Given the description of an element on the screen output the (x, y) to click on. 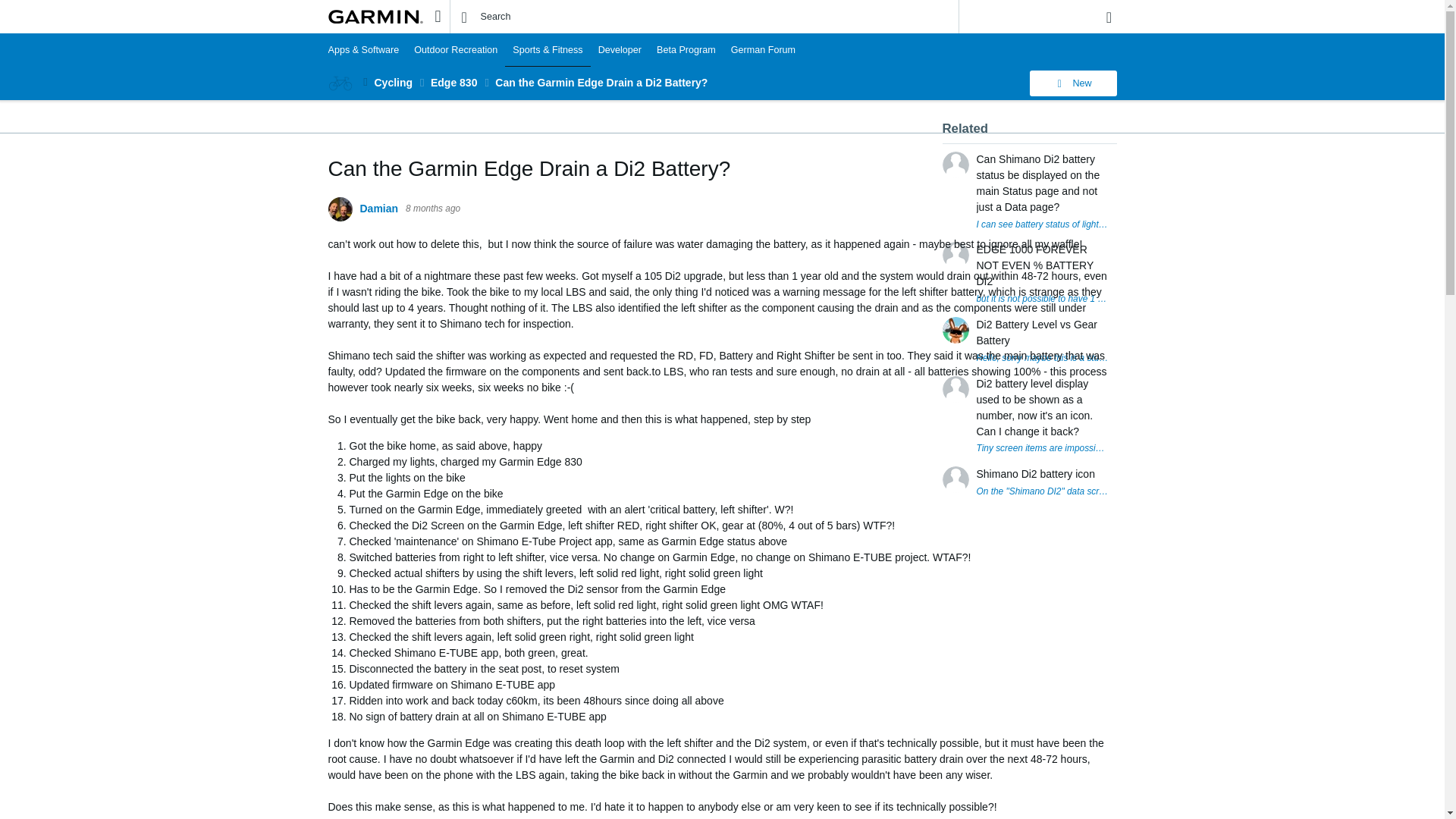
Damian (378, 208)
Edge 830 (453, 82)
Can the Garmin Edge Drain a Di2 Battery? (601, 82)
More (365, 82)
New (1072, 83)
Home (374, 16)
Join or sign in (1108, 17)
Tiny screen items are impossible to see while riding. (1042, 448)
German Forum (763, 49)
